Given the description of an element on the screen output the (x, y) to click on. 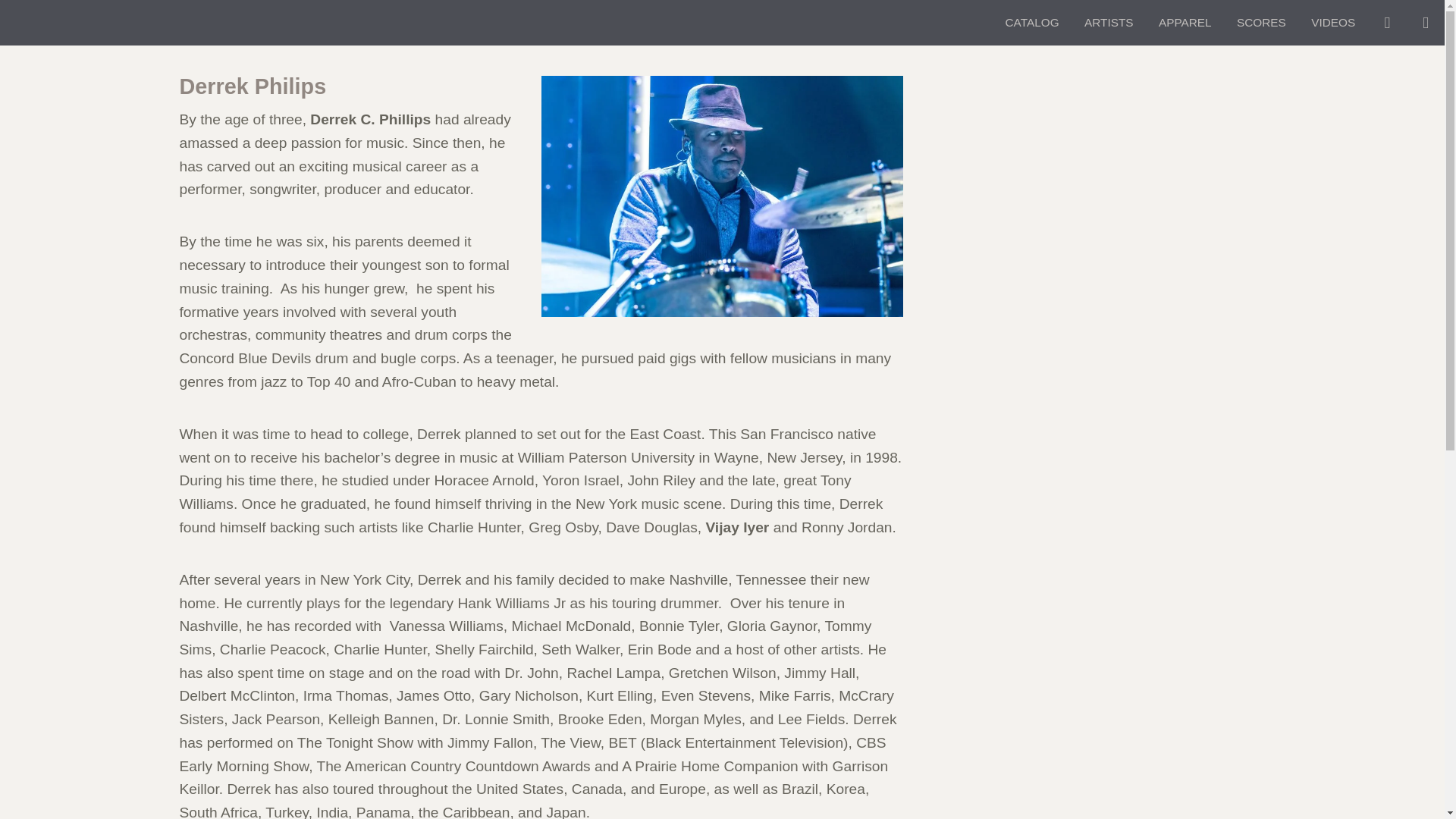
SCORES (1261, 22)
CATALOG (1031, 22)
APPAREL (1185, 22)
VIDEOS (1332, 22)
ARTISTS (1108, 22)
